Given the description of an element on the screen output the (x, y) to click on. 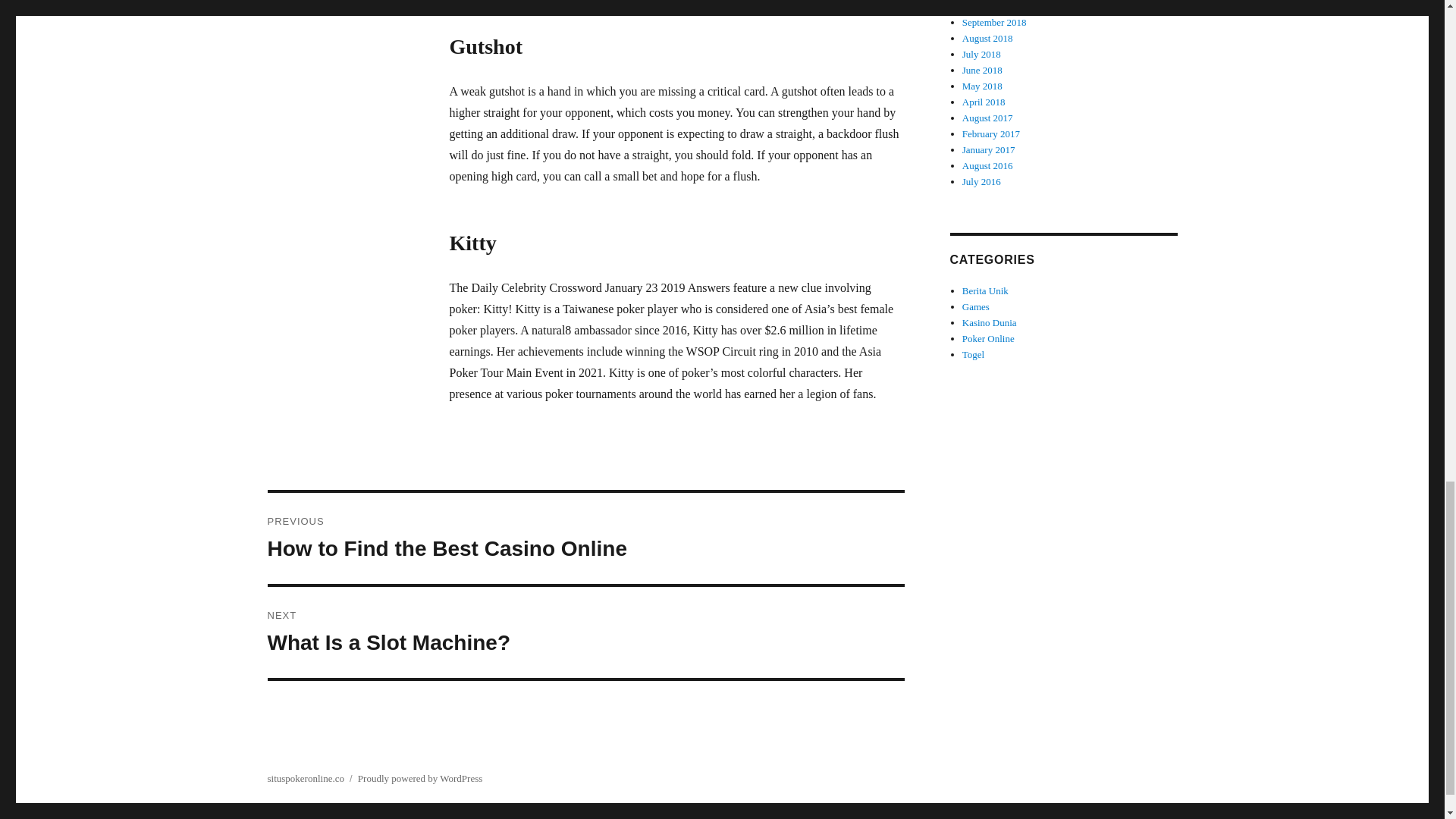
Games (976, 306)
Berita Unik (985, 290)
